Given the description of an element on the screen output the (x, y) to click on. 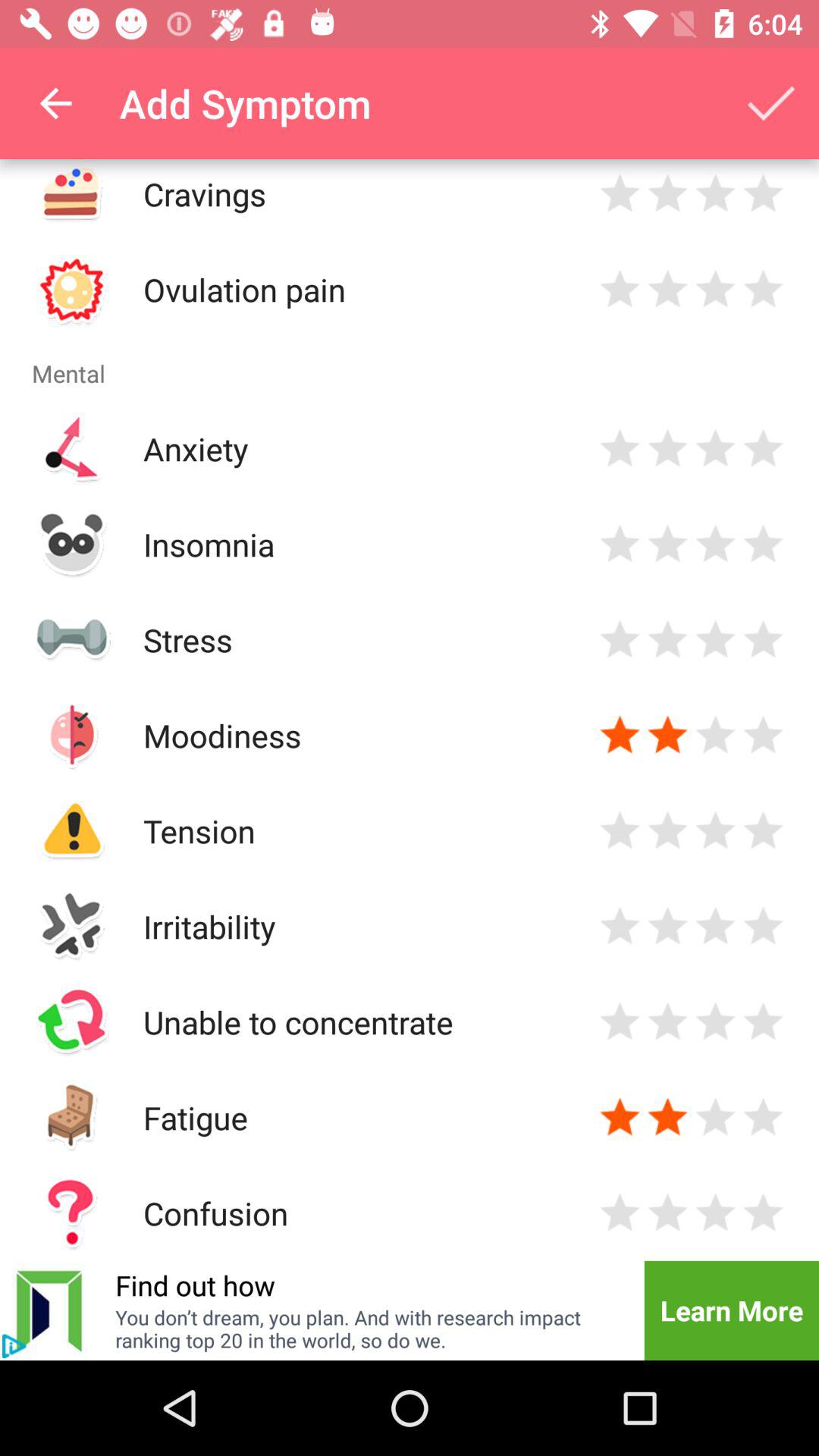
rate four stars (763, 448)
